Given the description of an element on the screen output the (x, y) to click on. 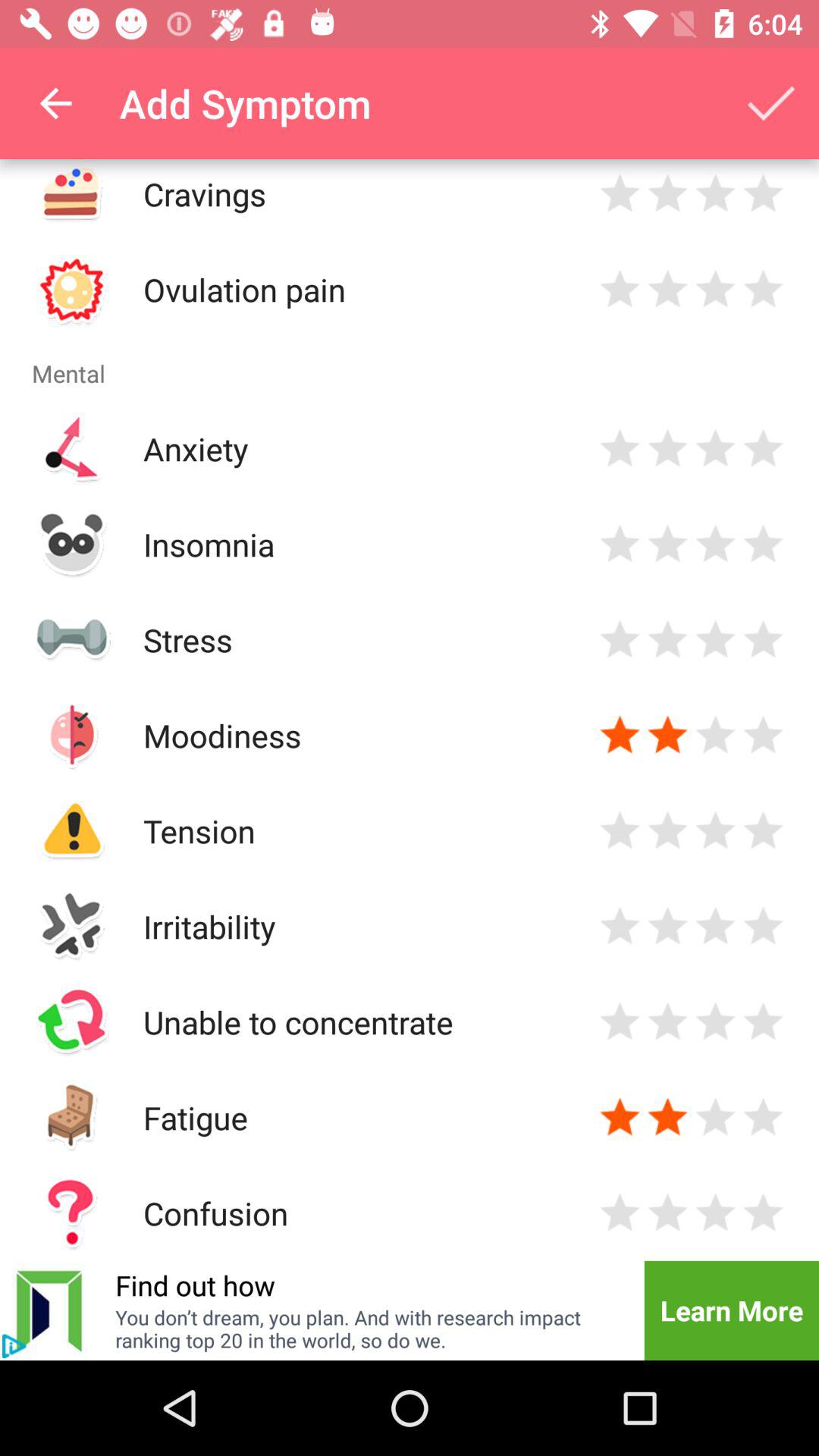
rate four stars (763, 448)
